Given the description of an element on the screen output the (x, y) to click on. 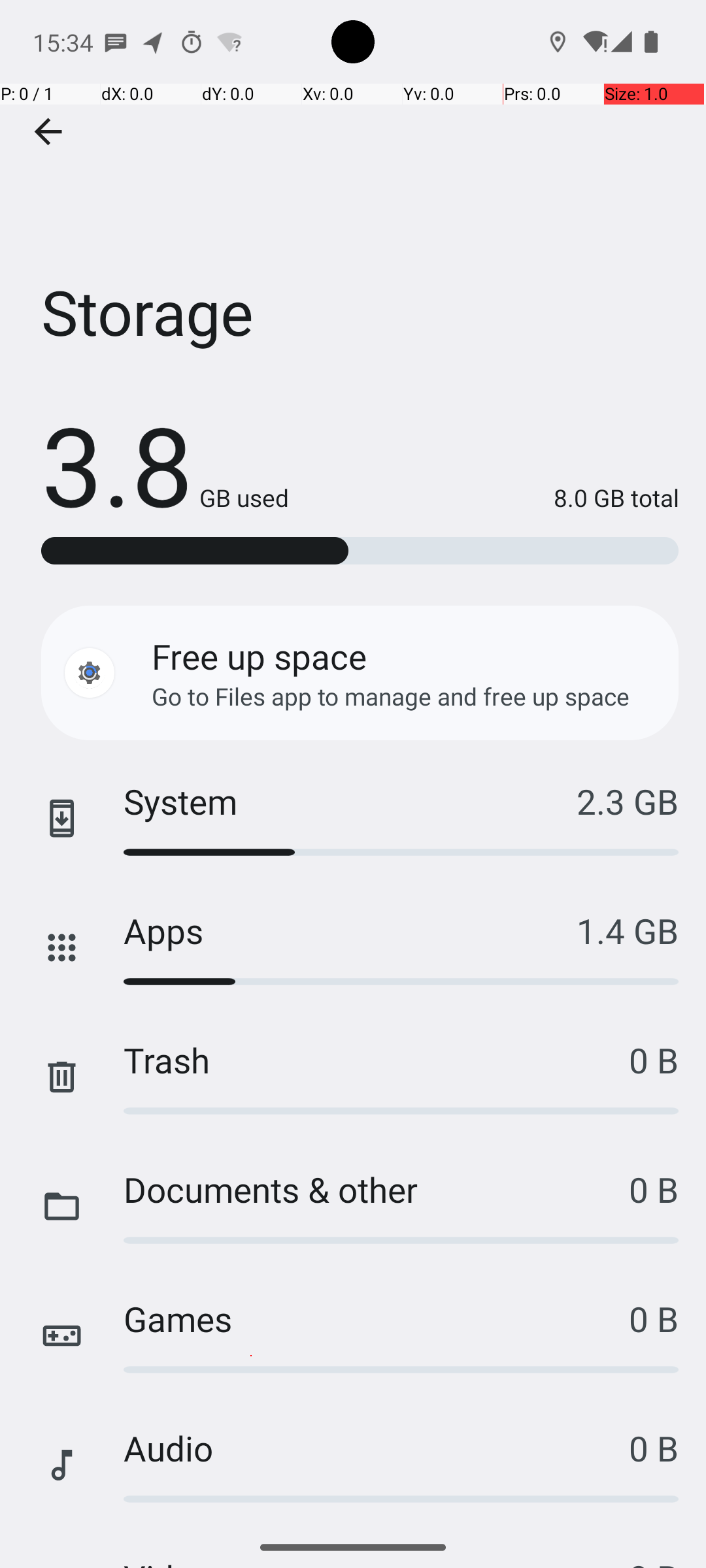
3.8 GB used Element type: android.widget.TextView (164, 463)
